Given the description of an element on the screen output the (x, y) to click on. 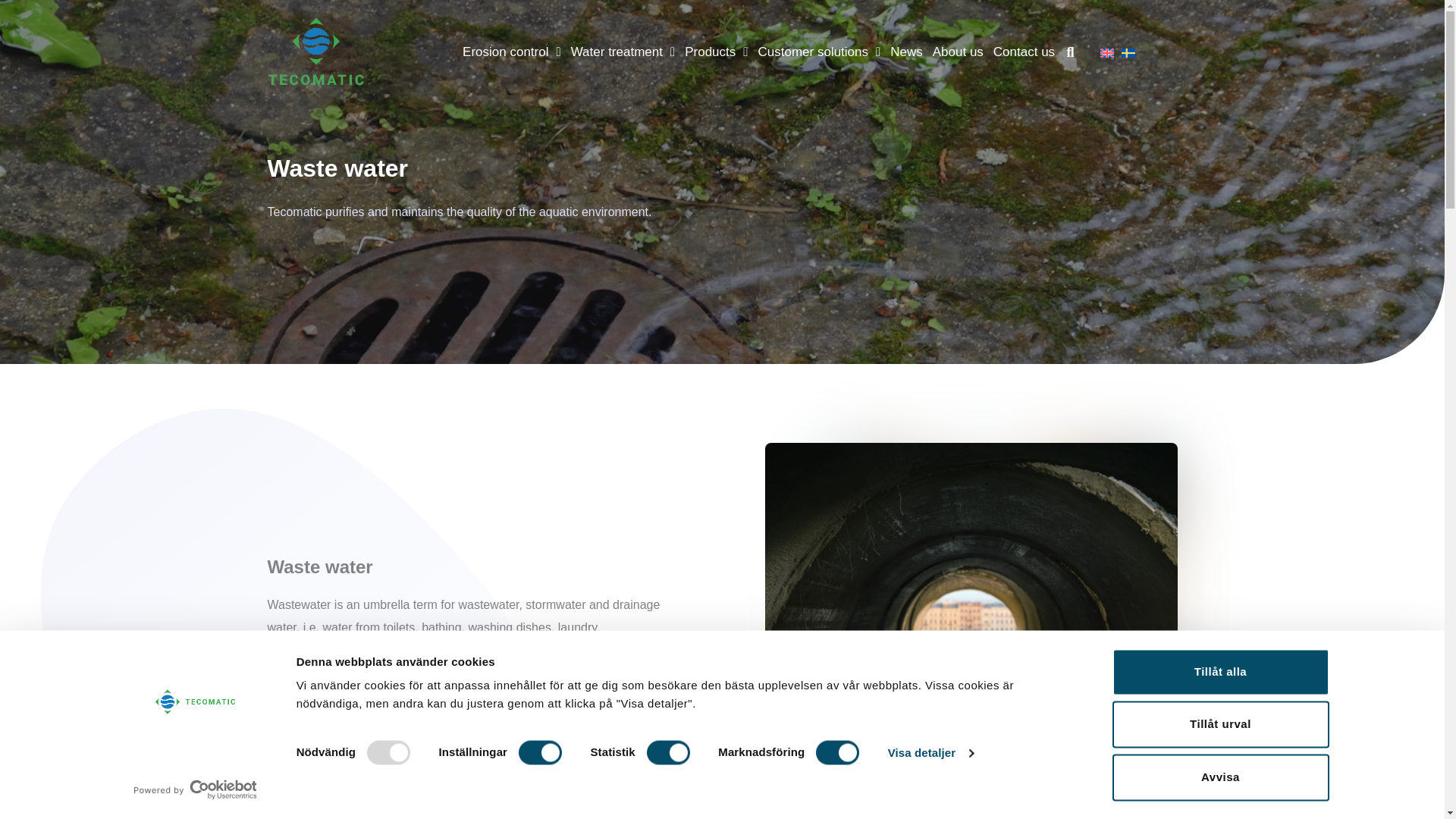
Visa detaljer (931, 753)
